Given the description of an element on the screen output the (x, y) to click on. 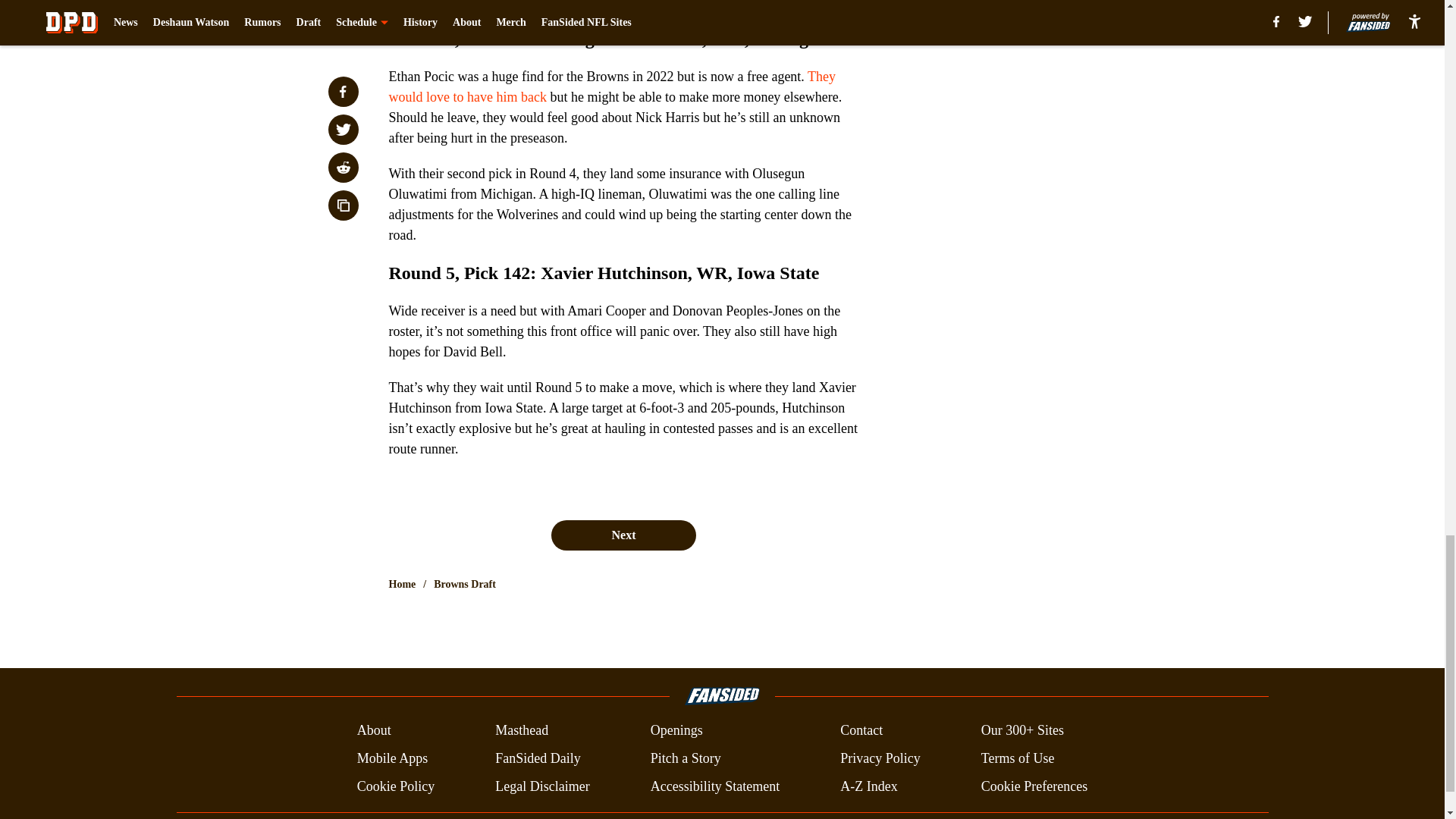
Pitch a Story (685, 758)
Next (622, 535)
Terms of Use (1017, 758)
Mobile Apps (392, 758)
Privacy Policy (880, 758)
About (373, 730)
Masthead (521, 730)
Contact (861, 730)
They would love to have him back (611, 86)
Browns Draft (464, 584)
Openings (676, 730)
did have 497 yards receiving this past season (612, 4)
Home (401, 584)
FanSided Daily (537, 758)
